Given the description of an element on the screen output the (x, y) to click on. 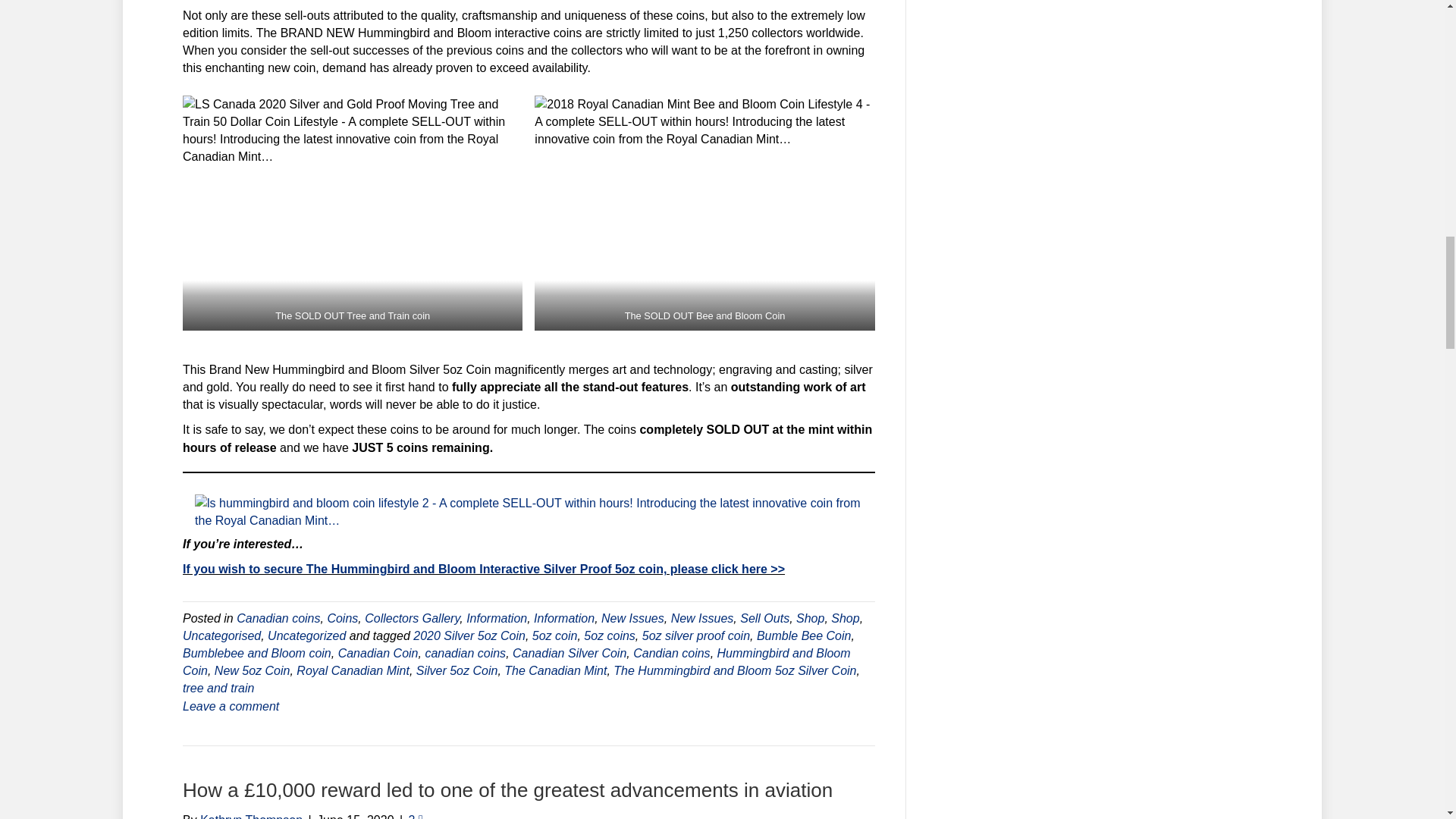
Canadian coins (277, 617)
Collectors Gallery (412, 617)
Coins (342, 617)
